Given the description of an element on the screen output the (x, y) to click on. 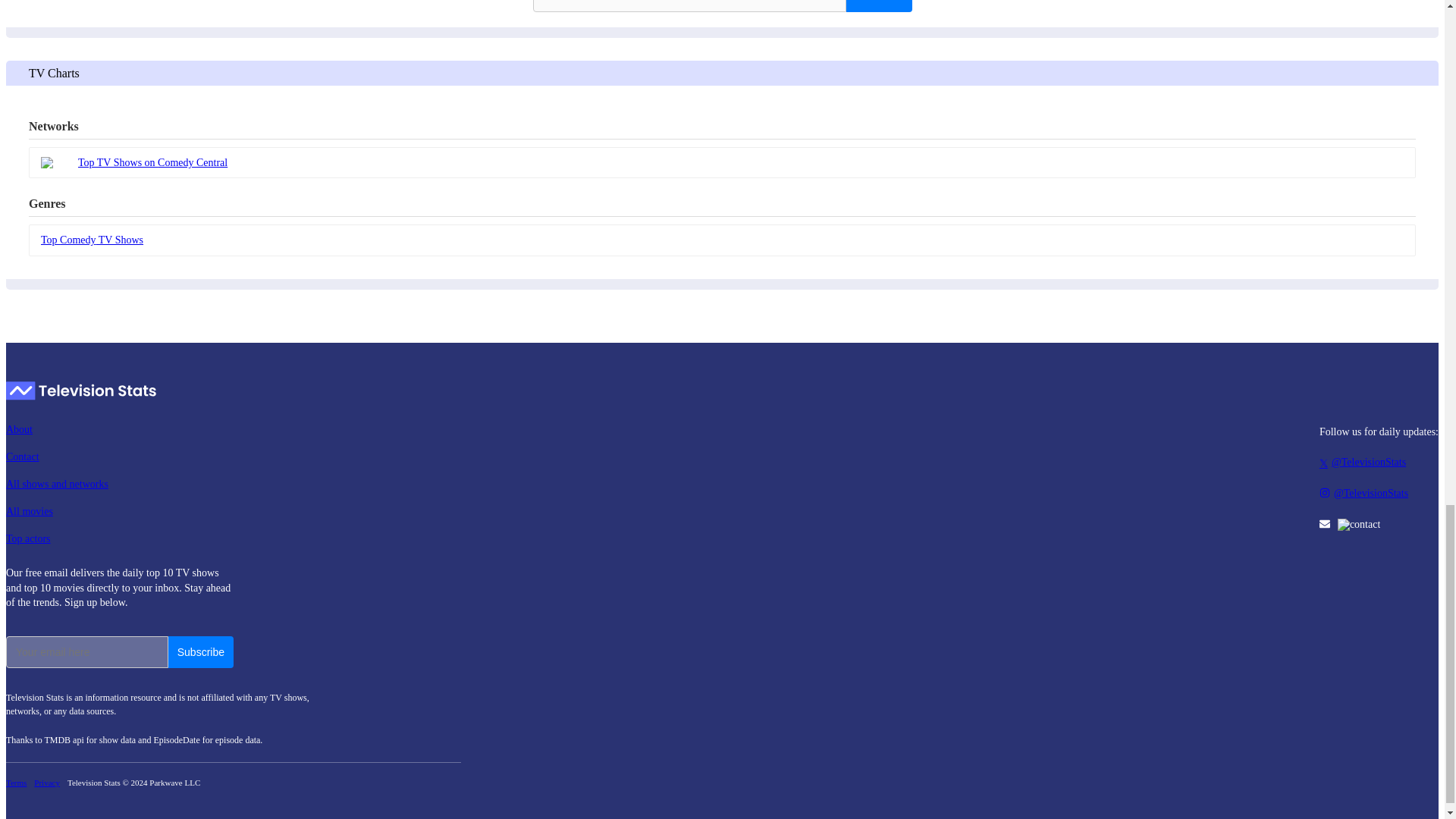
Subscribe (878, 6)
Top TV Shows on Comedy Central (722, 162)
All movies (118, 511)
About (118, 429)
Privacy (46, 782)
Contact (118, 456)
Terms (15, 782)
Top actors (118, 538)
Top Comedy TV Shows (722, 239)
Subscribe (200, 652)
